Given the description of an element on the screen output the (x, y) to click on. 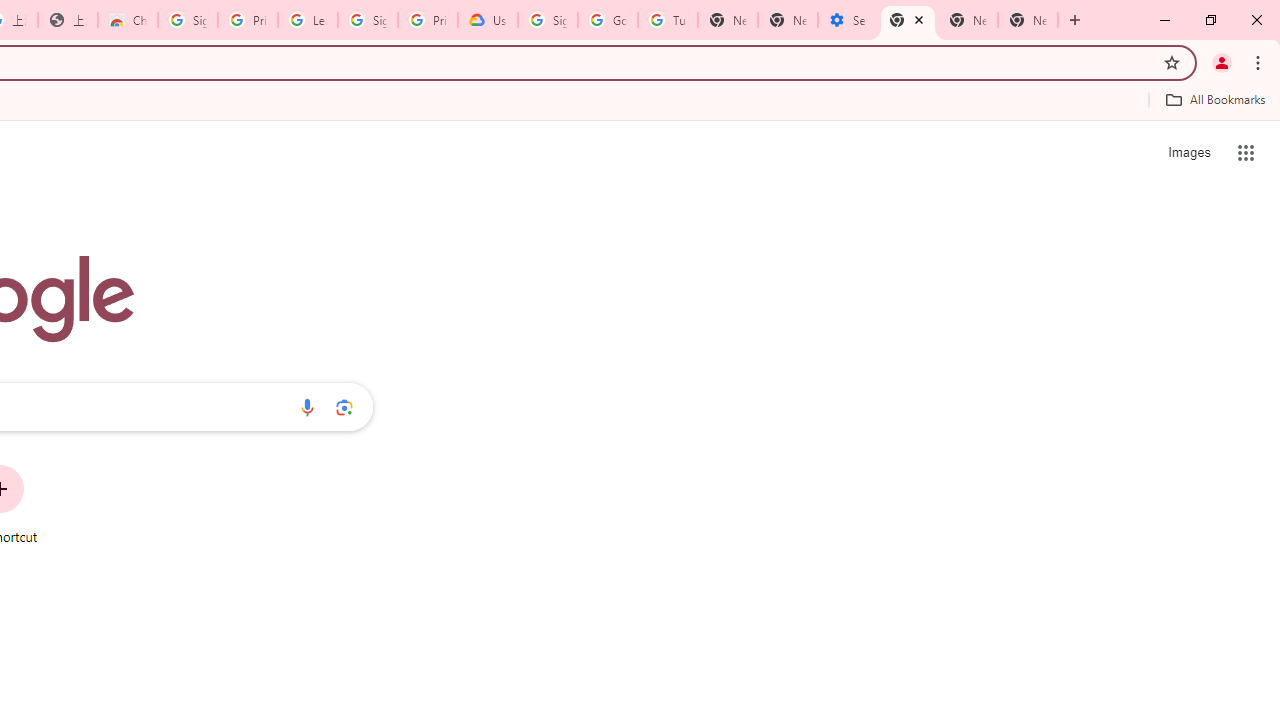
New Tab (727, 20)
New Tab (1028, 20)
Sign in - Google Accounts (548, 20)
Chrome Web Store - Color themes by Chrome (127, 20)
